Given the description of an element on the screen output the (x, y) to click on. 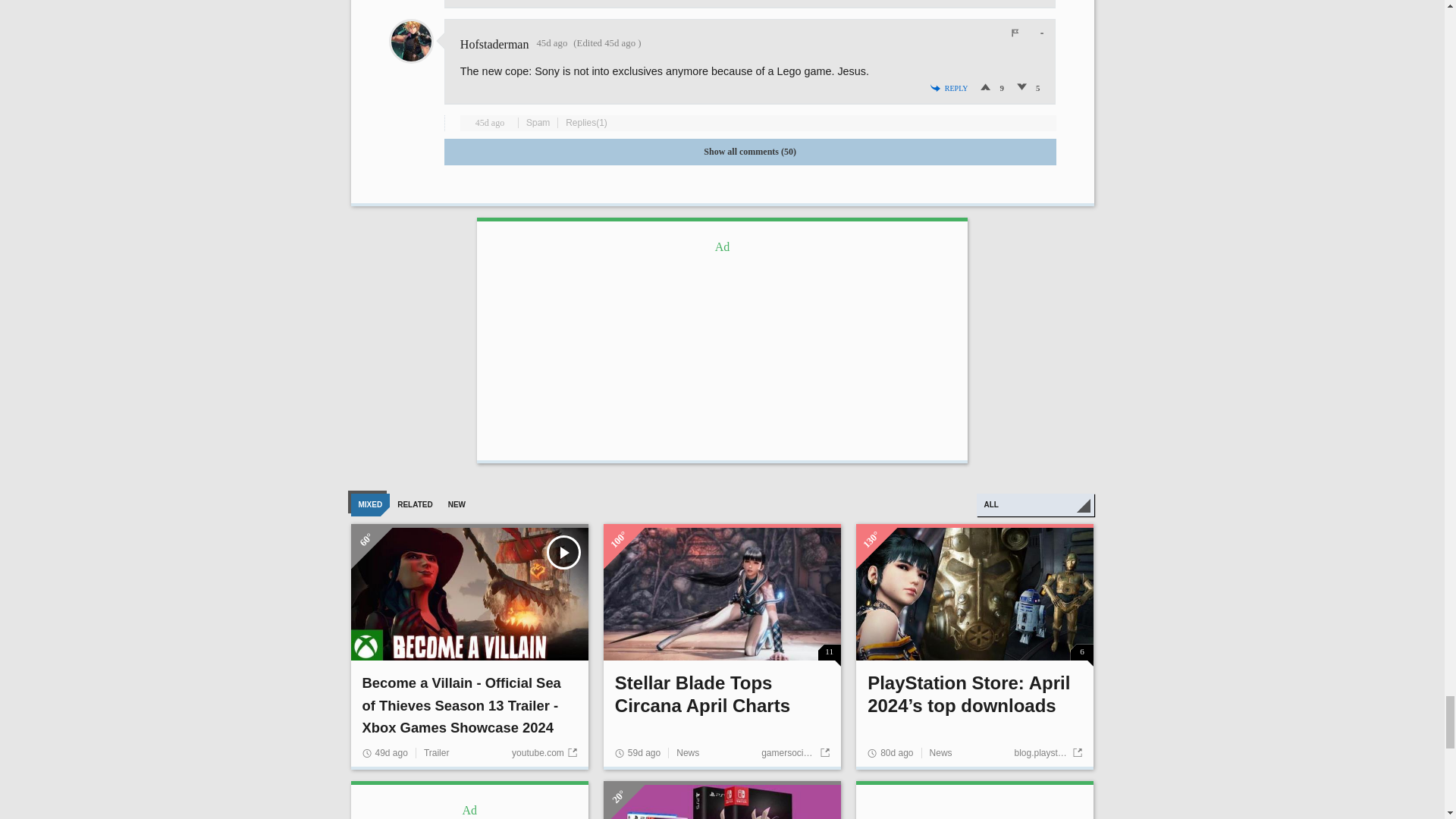
Go to source: youtube.com (544, 752)
Go to source: gamersocialclub.ca (795, 752)
Go to source: blog.playstation.com (1047, 752)
